Given the description of an element on the screen output the (x, y) to click on. 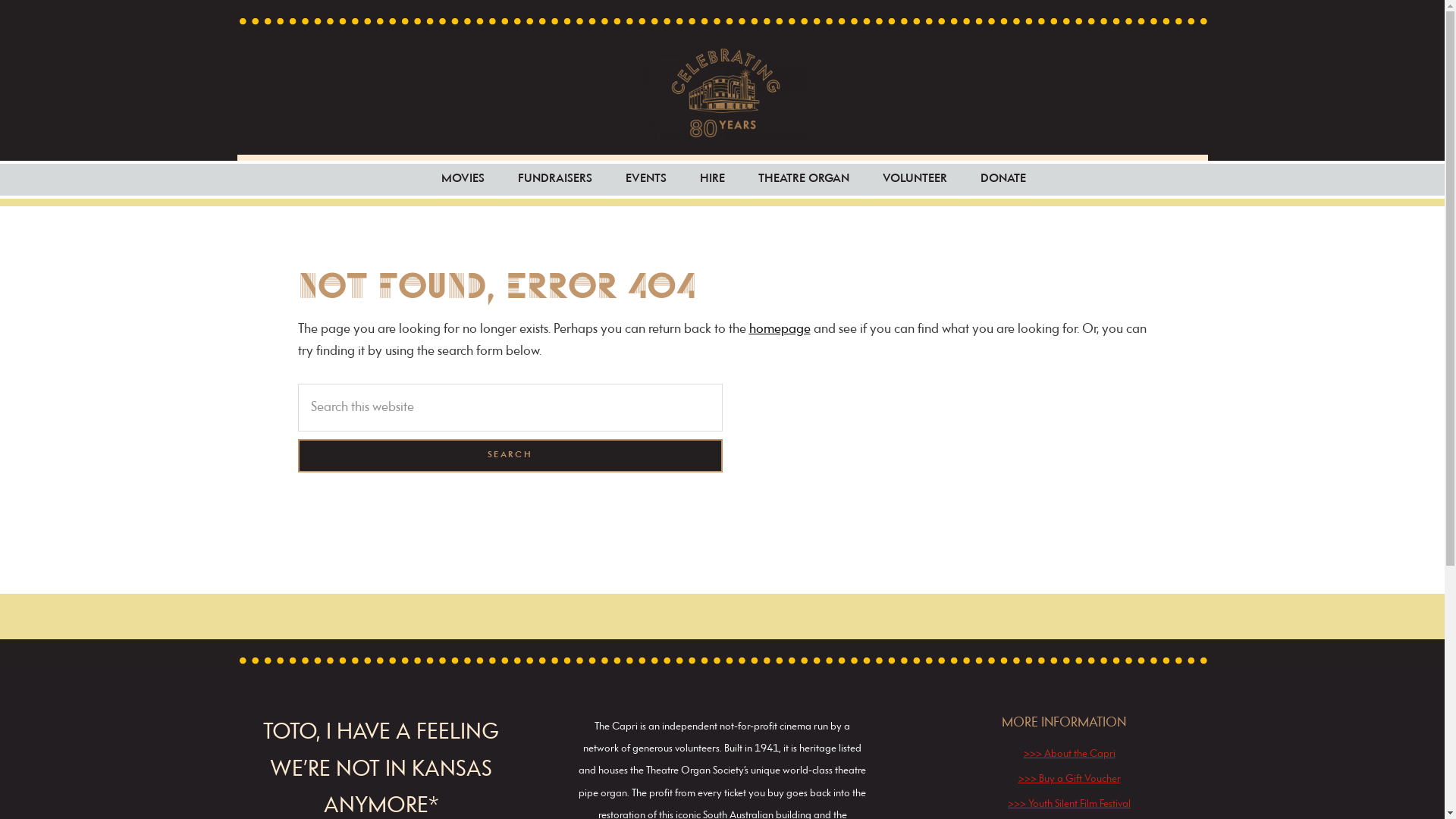
THEATRE ORGAN Element type: text (803, 178)
>>> Youth Silent Film Festival Element type: text (1068, 803)
EVENTS Element type: text (645, 178)
>>> Buy a Gift Voucher Element type: text (1068, 778)
DONATE Element type: text (1003, 178)
Search Element type: text (509, 455)
homepage Element type: text (779, 329)
VOLUNTEER Element type: text (914, 178)
Capri Theatre Element type: text (722, 92)
FUNDRAISERS Element type: text (554, 178)
MOVIES Element type: text (462, 178)
>>> About the Capri Element type: text (1069, 753)
Skip to primary navigation Element type: text (0, 0)
HIRE Element type: text (712, 178)
